Given the description of an element on the screen output the (x, y) to click on. 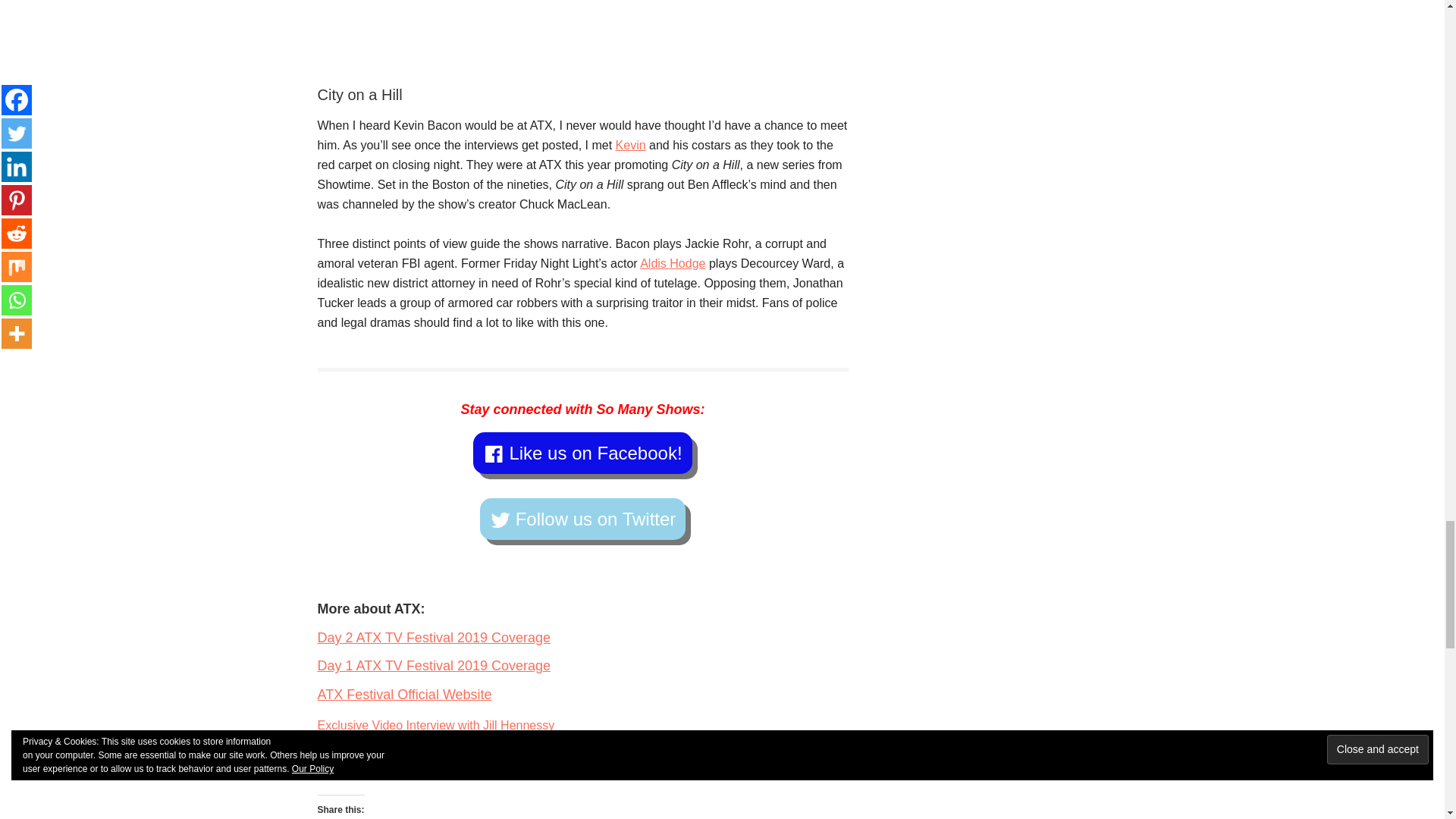
Like us on Facebook! (582, 453)
Follow us on Twitter (582, 518)
Aldis Hodge (672, 263)
Exclusive Video Interview with Jill Hennessy (435, 725)
Day 1 ATX TV Festival 2019 Coverage (433, 665)
ATX Festival Official Website (404, 694)
Day 2 ATX TV Festival 2019 Coverage (433, 637)
Kevin (630, 144)
